Given the description of an element on the screen output the (x, y) to click on. 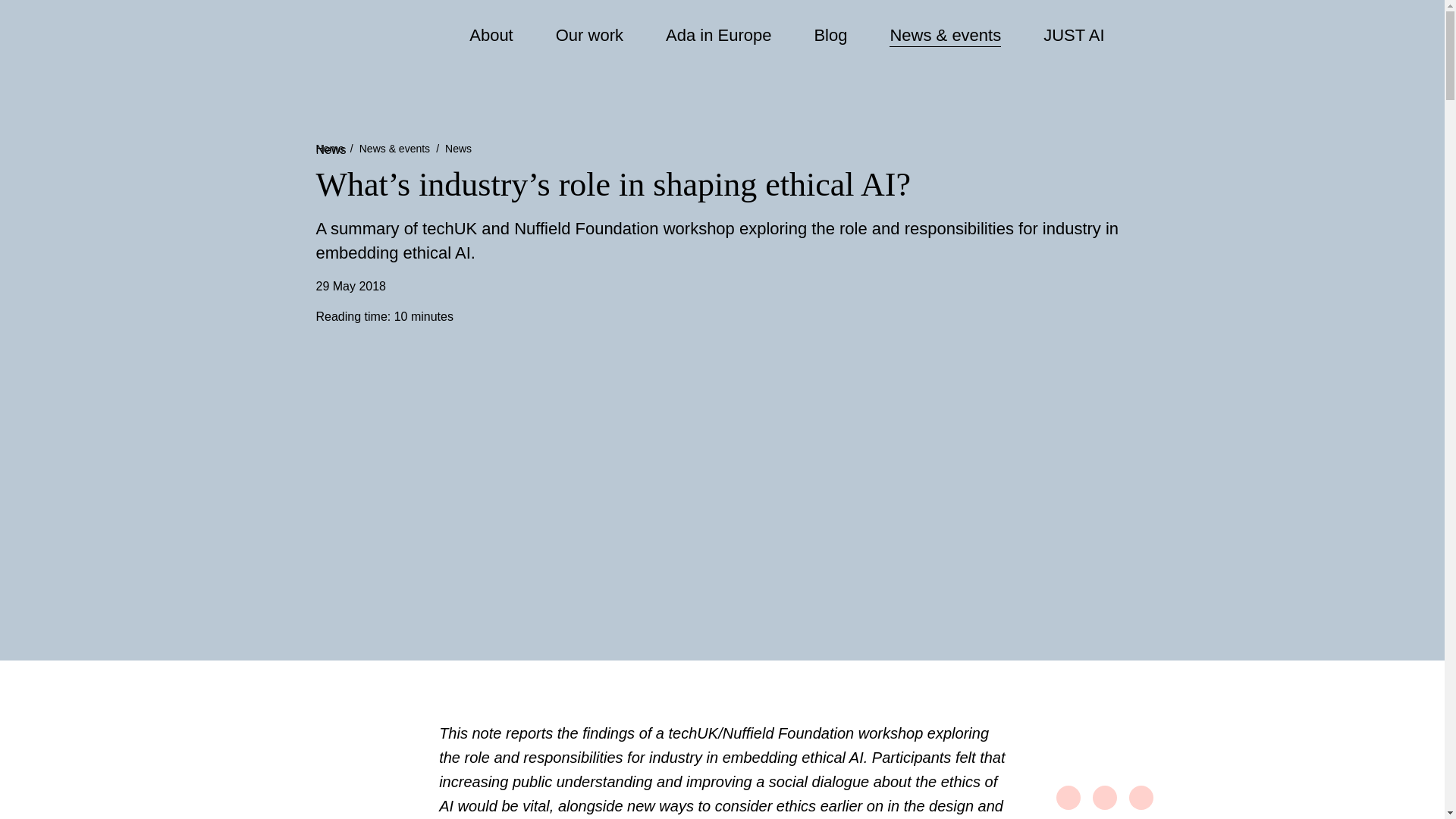
Share on Twitter (1104, 797)
JUST AI (1073, 36)
News (458, 148)
About (491, 36)
Ada in Europe (718, 36)
Share on Facebook (1067, 797)
Our work (588, 36)
Share on LinkedIn (1140, 797)
Home (329, 148)
Blog (830, 36)
